Given the description of an element on the screen output the (x, y) to click on. 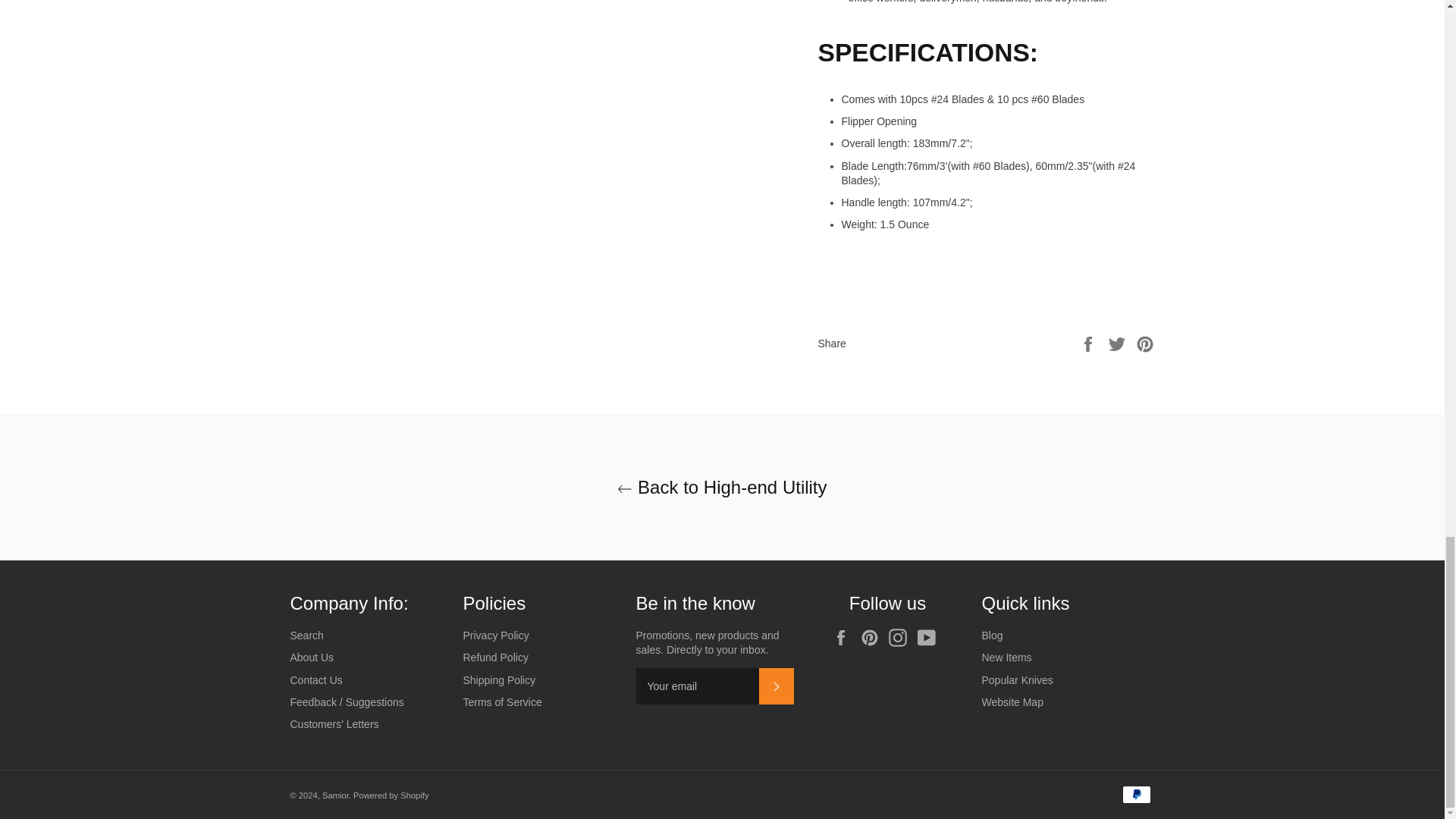
Pin on Pinterest (1144, 343)
Tweet on Twitter (1118, 343)
Samior on Instagram (901, 637)
Samior on Facebook (844, 637)
Website Map (1011, 702)
Share on Facebook (1089, 343)
Samior on Pinterest (873, 637)
News (992, 635)
Samior on YouTube (930, 637)
